Given the description of an element on the screen output the (x, y) to click on. 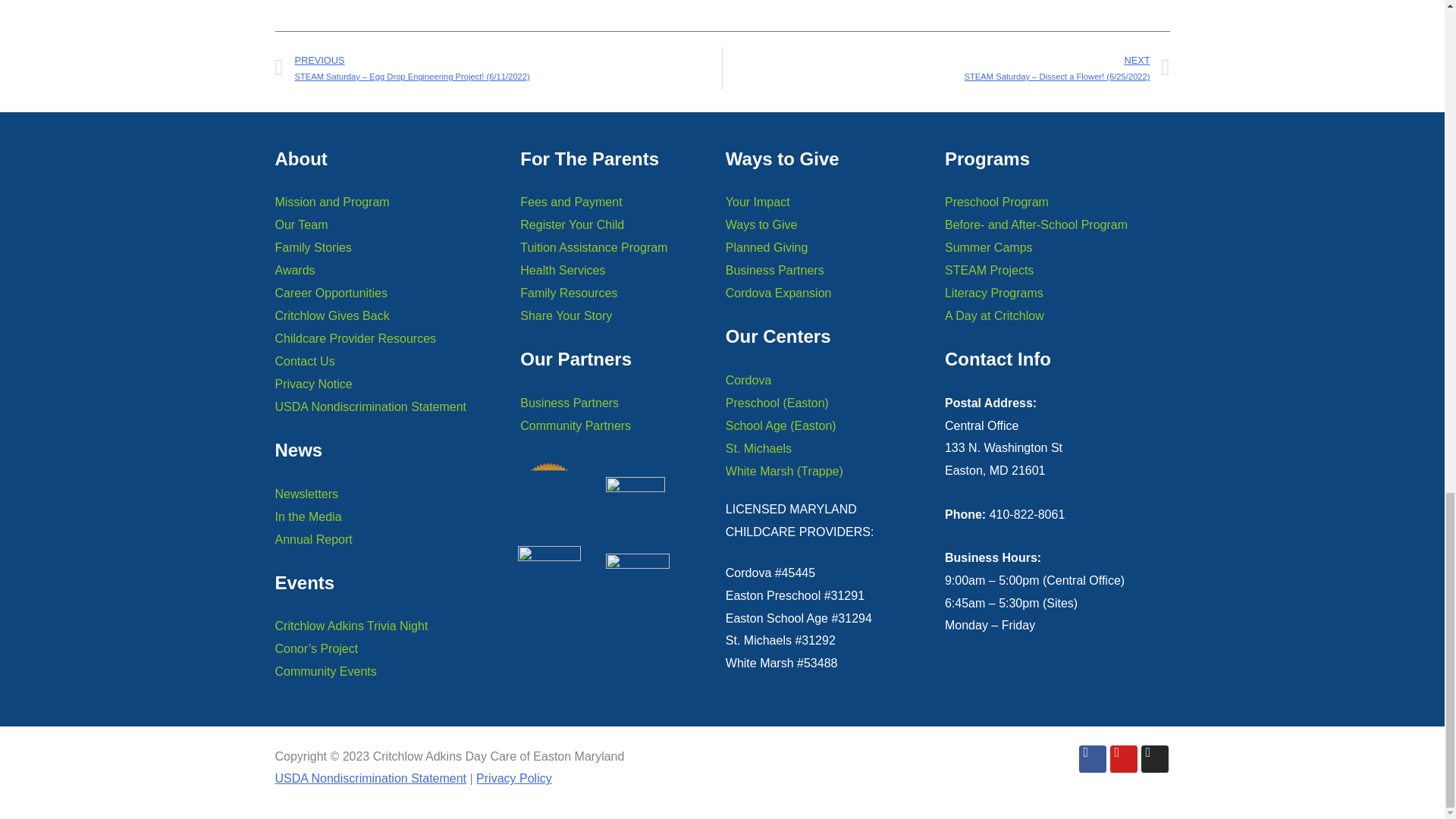
EXCELS - Critchlow Adkins Children's Centers (644, 565)
Accredidation - Critchlow Adkins Children's Centers (549, 566)
Equity and Excellence - Critchlow Adkins Children's Centers (643, 495)
